Given the description of an element on the screen output the (x, y) to click on. 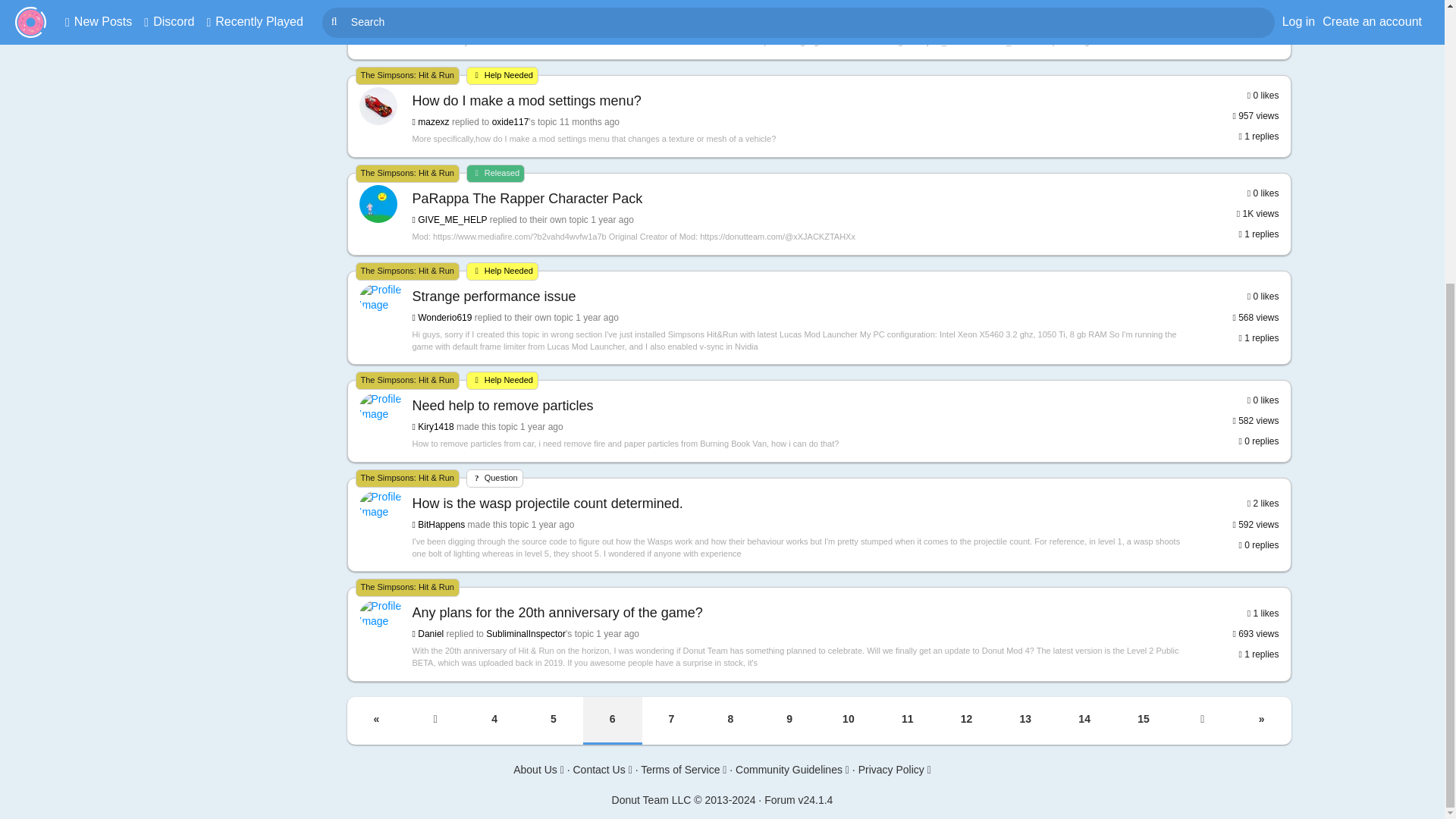
Page 5 (553, 720)
Page 13 (1024, 720)
Previous (435, 720)
Page 7 (671, 720)
Next (1202, 720)
Off Topic (243, 10)
Page 14 (1083, 720)
Page 11 (907, 720)
Page 8 (730, 720)
Page 12 (966, 720)
